Given the description of an element on the screen output the (x, y) to click on. 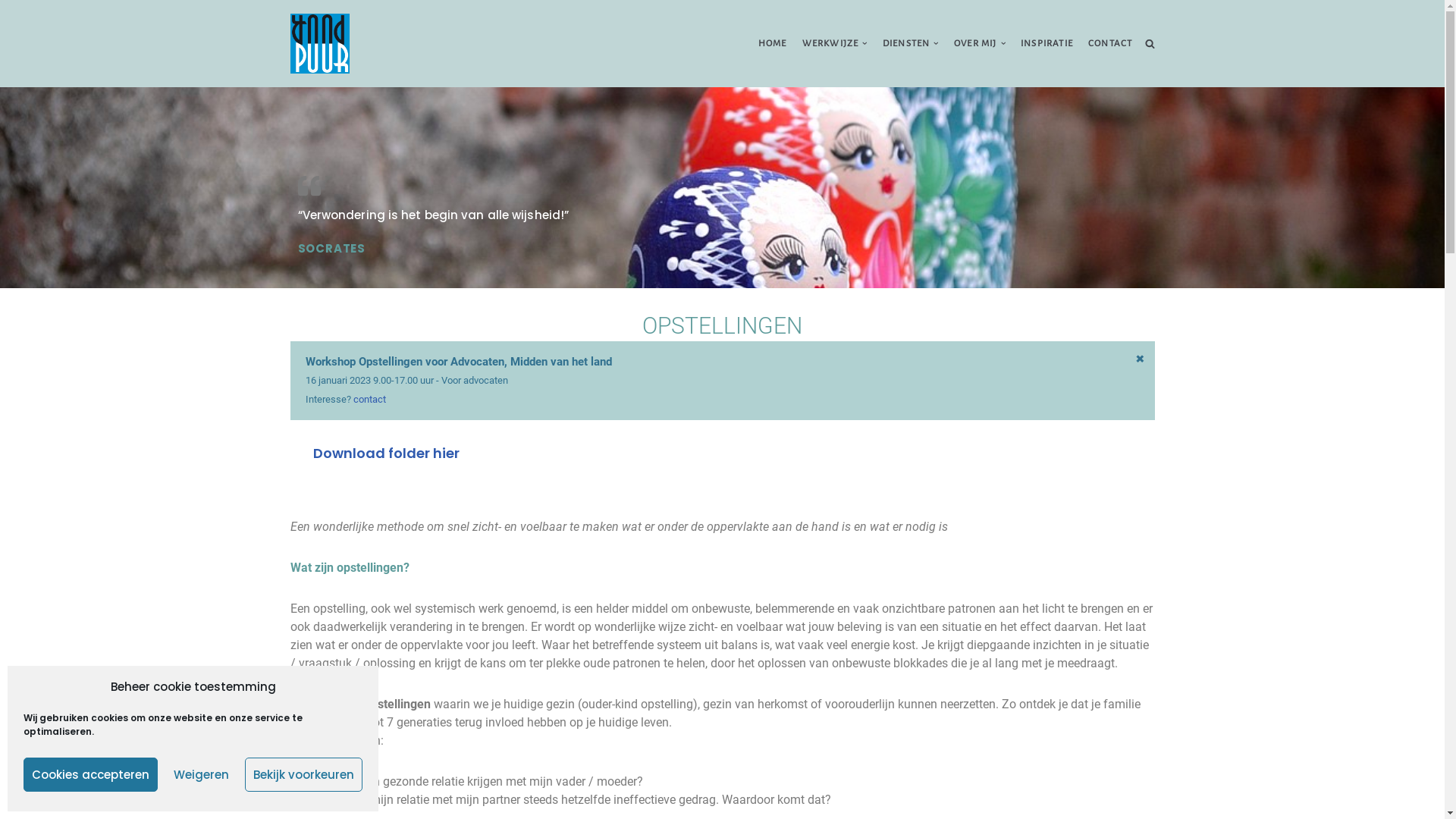
contact Element type: text (369, 398)
CONTACT Element type: text (1110, 43)
HOME Element type: text (772, 43)
Bekijk voorkeuren Element type: text (303, 774)
DIENSTEN Element type: text (906, 43)
Cookies accepteren Element type: text (90, 774)
OVER MIJ Element type: text (975, 43)
WERKWIJZE Element type: text (830, 43)
INSPIRATIE Element type: text (1046, 43)
Ga naar de inhoud Element type: text (11, 31)
Weigeren Element type: text (201, 774)
Download folder hier Element type: text (385, 452)
